Given the description of an element on the screen output the (x, y) to click on. 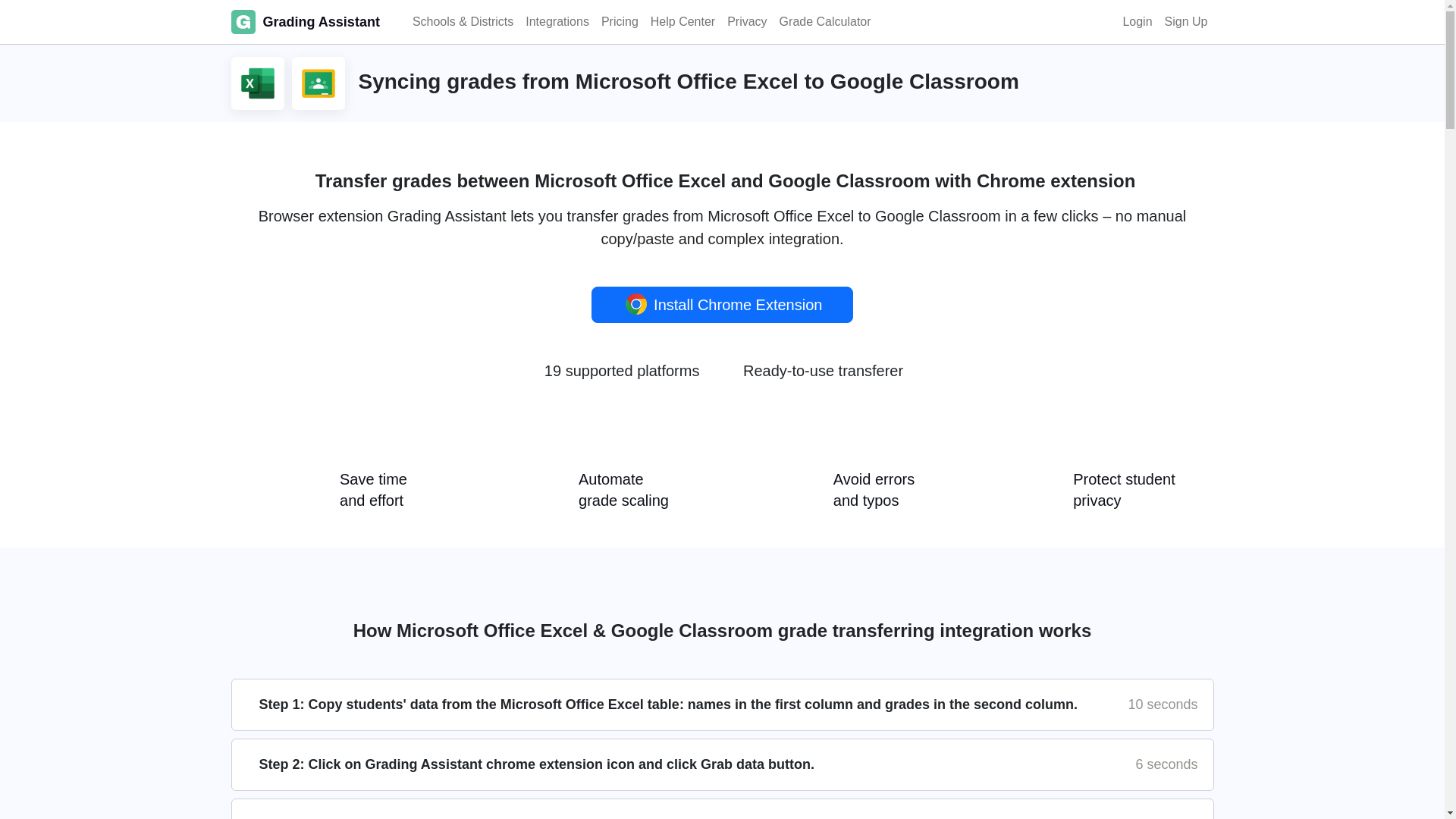
Privacy (746, 21)
Help Center (682, 21)
Sync grades from Microsoft Office Excel (257, 83)
Integrations (557, 21)
Pricing (620, 21)
Sign Up (1186, 21)
Install Chrome Extension (722, 304)
Grading Assistant (304, 21)
Sync grades with Google Classroom (317, 83)
Grade Calculator (825, 21)
Grading Assistant Chrome Extension (636, 303)
Login (1136, 21)
